Given the description of an element on the screen output the (x, y) to click on. 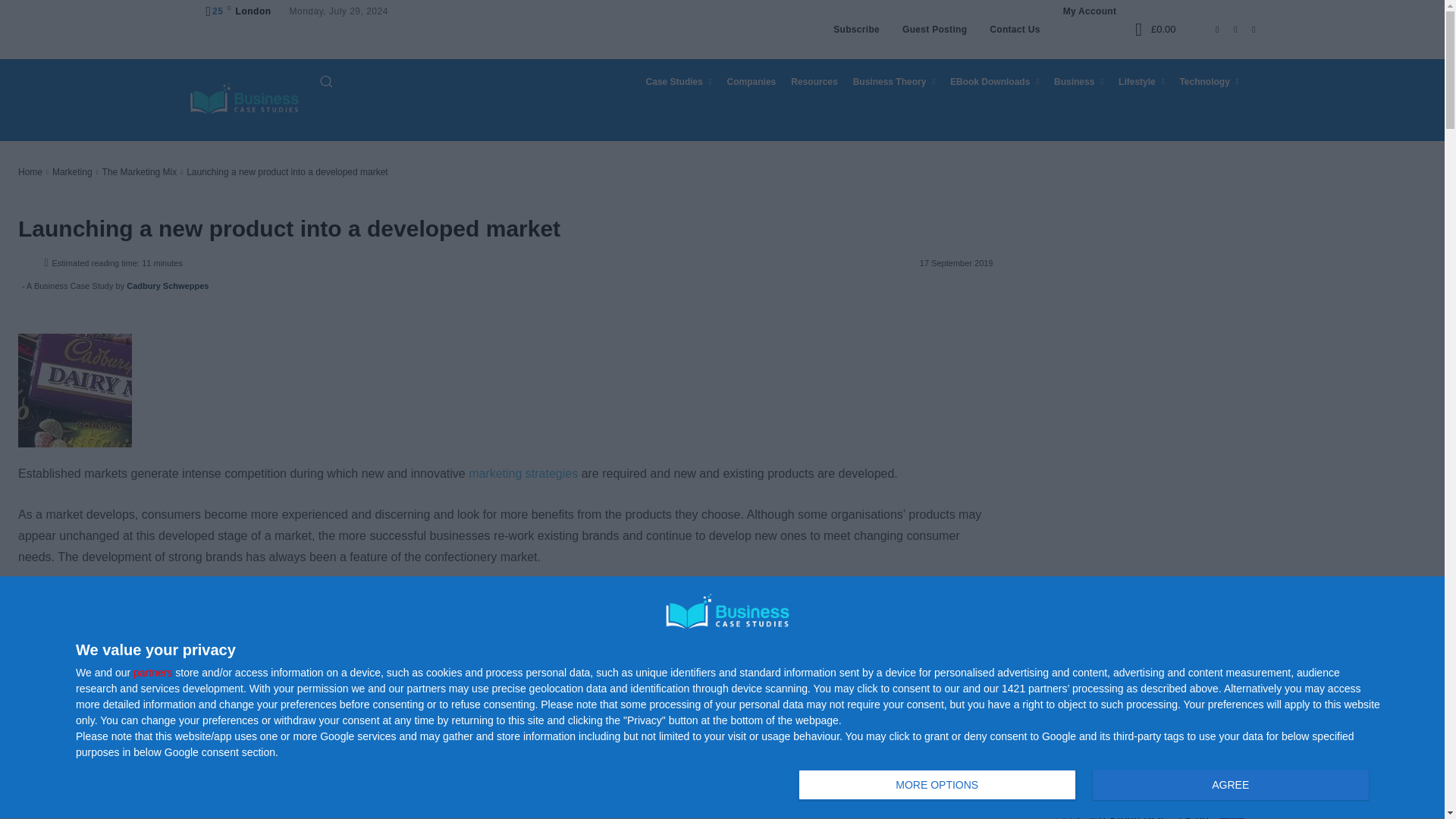
RSS (1224, 29)
partners (152, 672)
Twitter (1243, 29)
View all posts in The Marketing Mix (139, 172)
MORE OPTIONS (936, 784)
AGREE (1230, 784)
Facebook (1206, 29)
View all posts in Marketing (1086, 785)
